Given the description of an element on the screen output the (x, y) to click on. 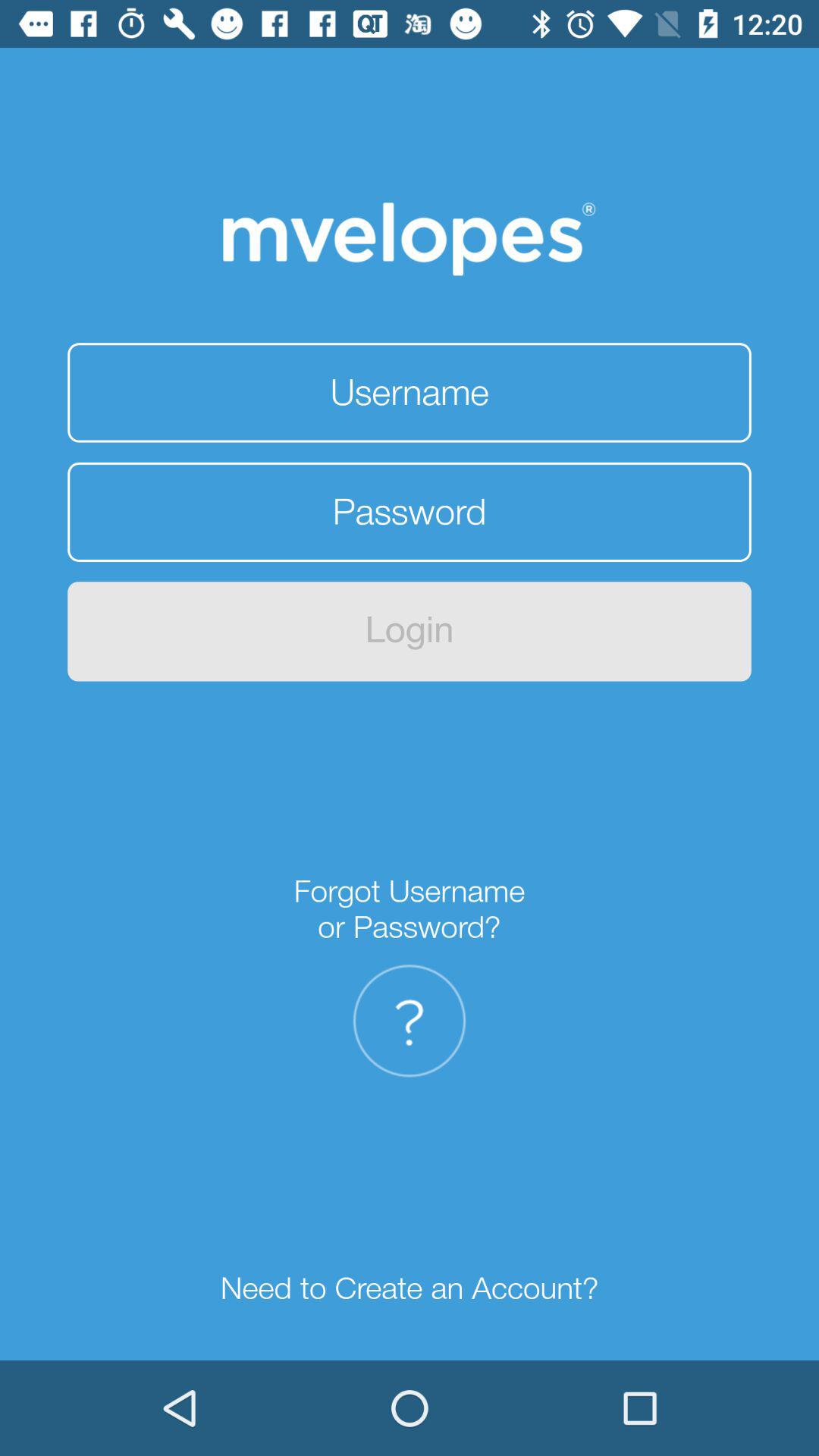
press the forgot username or icon (409, 909)
